Given the description of an element on the screen output the (x, y) to click on. 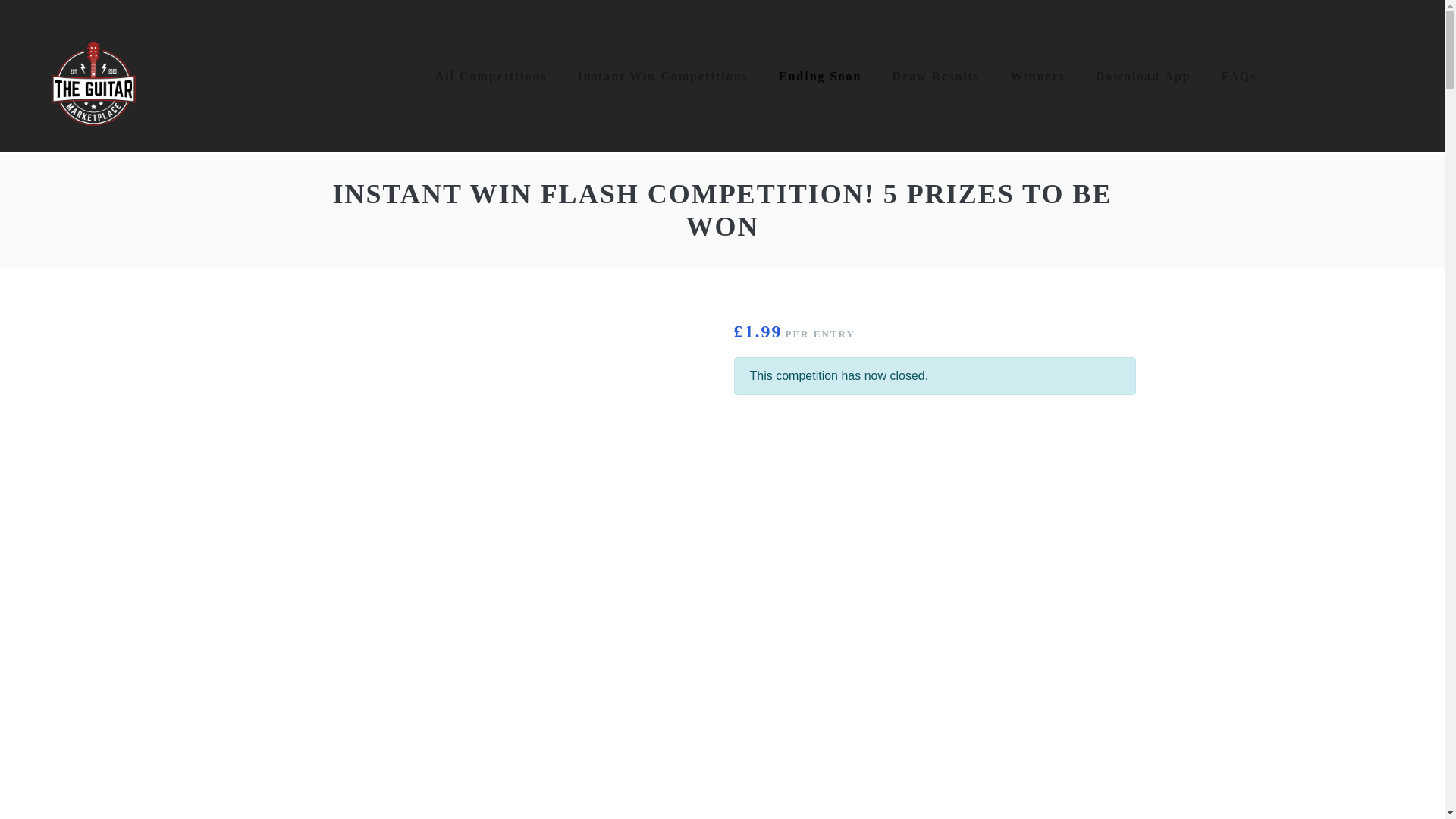
Winners (1037, 75)
FAQs (1239, 75)
Ending Soon (819, 75)
All Competitions (491, 75)
Instant Win Competitions (662, 75)
Draw Results (935, 75)
Download App (1143, 75)
Basket (1326, 76)
